Given the description of an element on the screen output the (x, y) to click on. 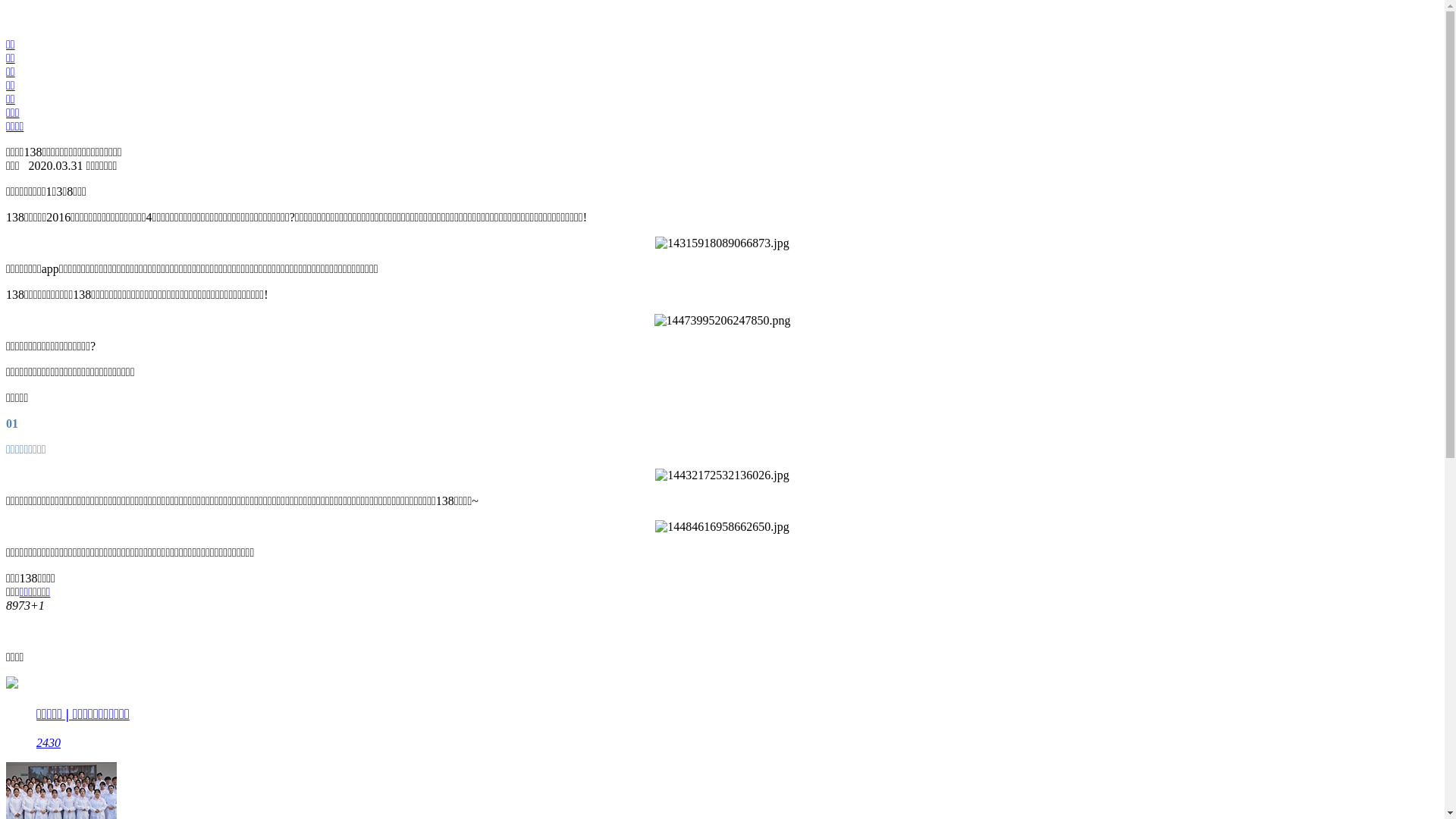
14432172532136026.jpg Element type: hover (721, 475)
14473995206247850.png Element type: hover (721, 320)
14484616958662650.jpg Element type: hover (721, 526)
14315918089066873.jpg Element type: hover (721, 243)
